Given the description of an element on the screen output the (x, y) to click on. 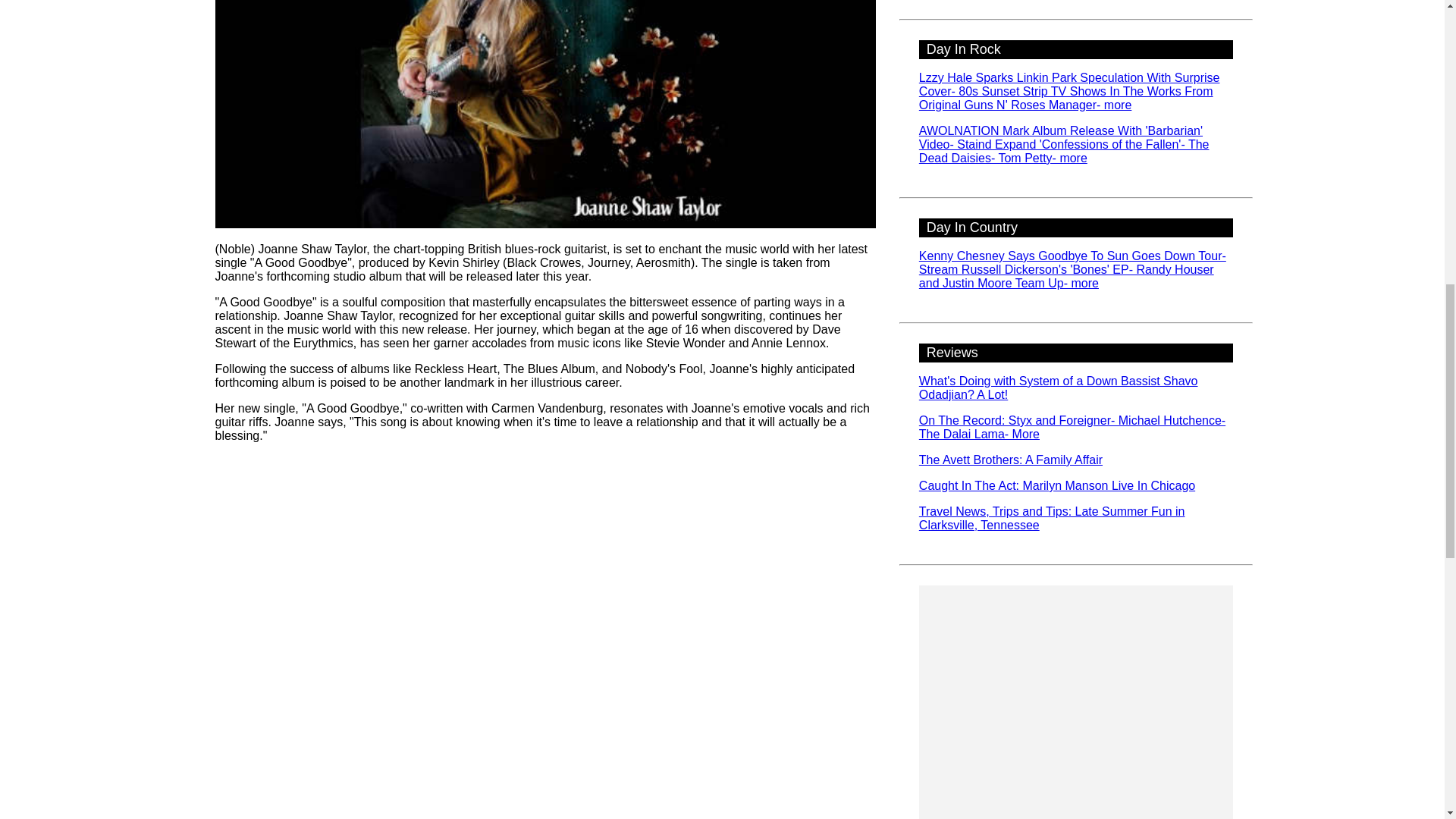
The Avett Brothers: A Family Affair (1010, 459)
Caught In The Act: Marilyn Manson Live In Chicago (1056, 485)
